Given the description of an element on the screen output the (x, y) to click on. 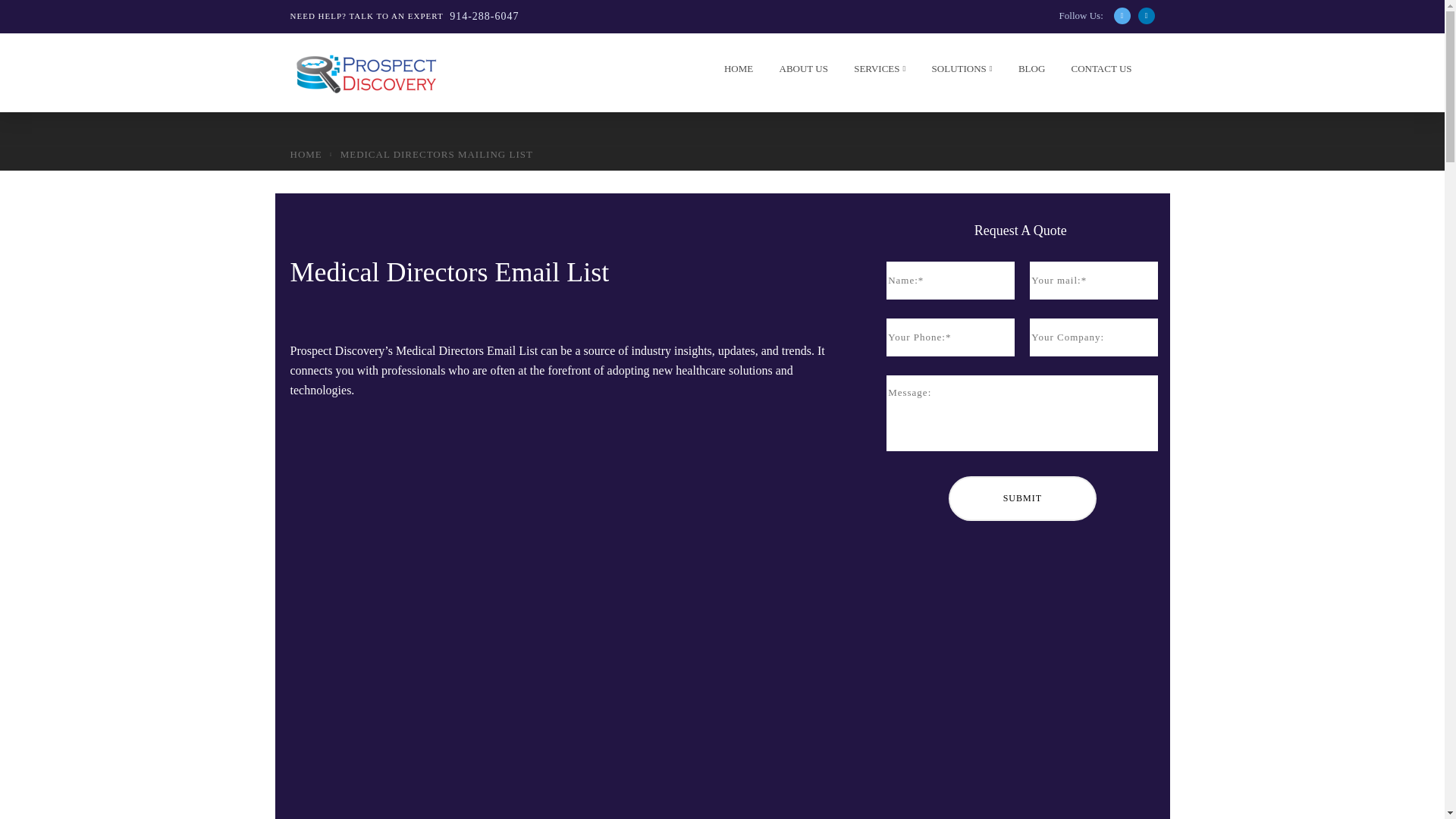
914-288-6047 (483, 16)
BLOG (1027, 71)
SERVICES (875, 71)
SUBMIT (1022, 497)
CONTACT US (1097, 71)
ABOUT US (798, 71)
SOLUTIONS (957, 71)
SUBMIT (1022, 497)
HOME (734, 71)
HOME (305, 153)
